Given the description of an element on the screen output the (x, y) to click on. 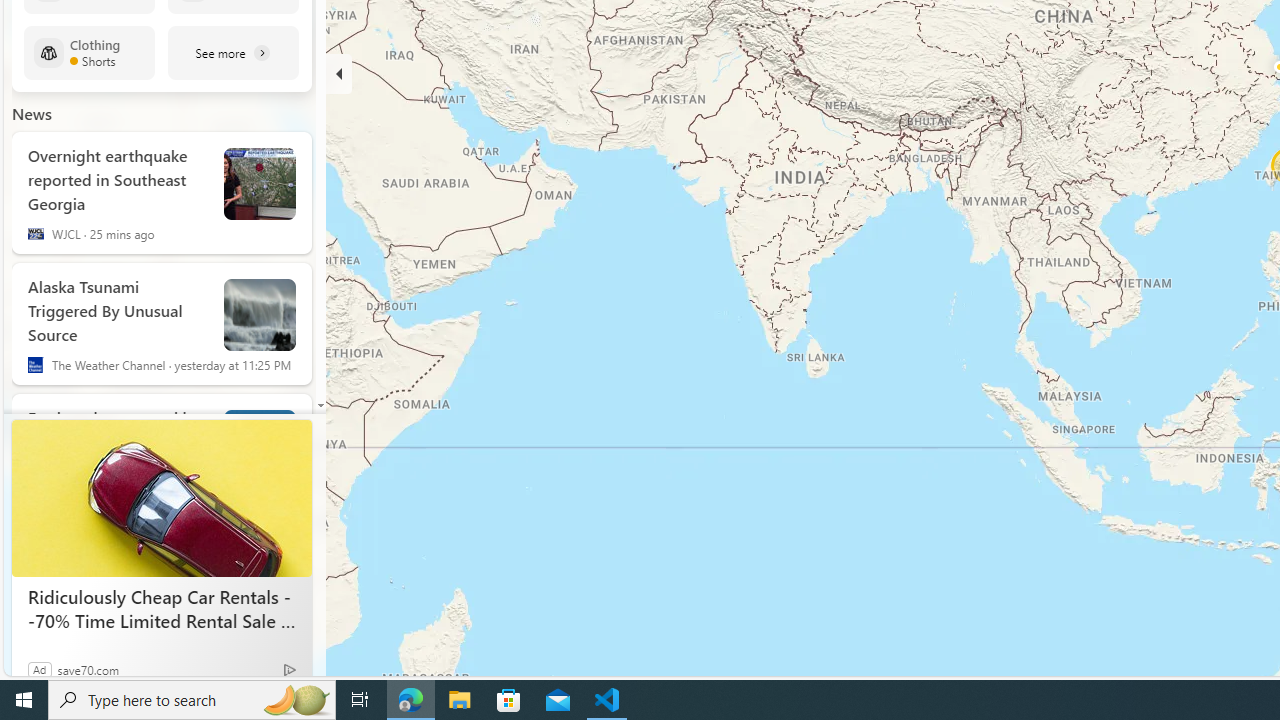
News (31, 113)
Ad Choice (289, 668)
Clothing Shorts (89, 52)
Overnight earthquake reported in Southeast Georgia (117, 175)
save70.com (88, 669)
Hide (339, 73)
Alaska Tsunami Triggered By Unusual Source (117, 306)
Ad (40, 669)
WJCL (35, 233)
Overnight earthquake reported in Southeast Georgia (259, 184)
Alaska Tsunami Triggered By Unusual Source (259, 315)
The Weather Channel (35, 364)
